Given the description of an element on the screen output the (x, y) to click on. 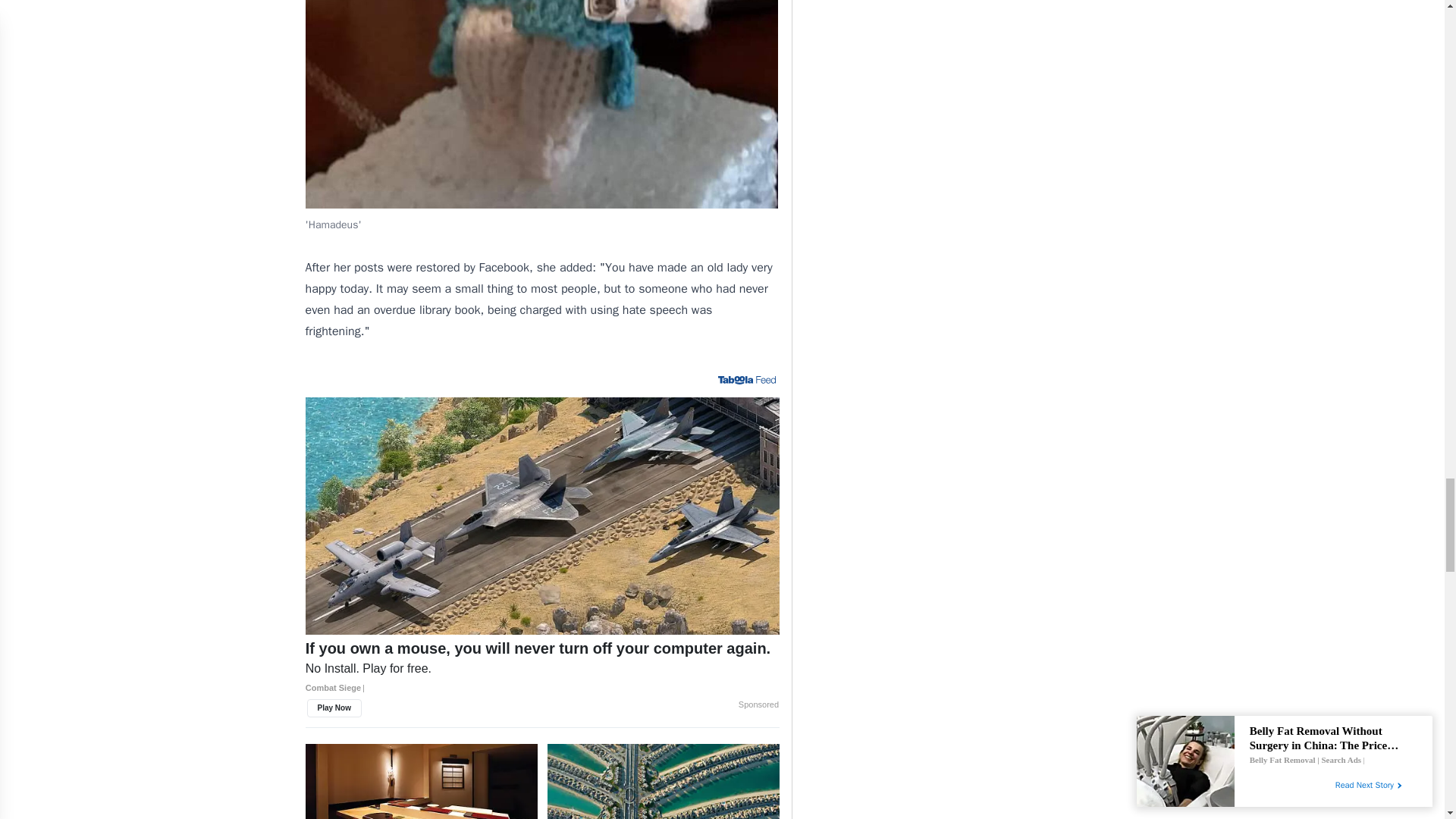
Discovering Exclusive Restaurant Hideaways in Singapore (421, 781)
"Description: No Install. Play for free." (541, 668)
